Given the description of an element on the screen output the (x, y) to click on. 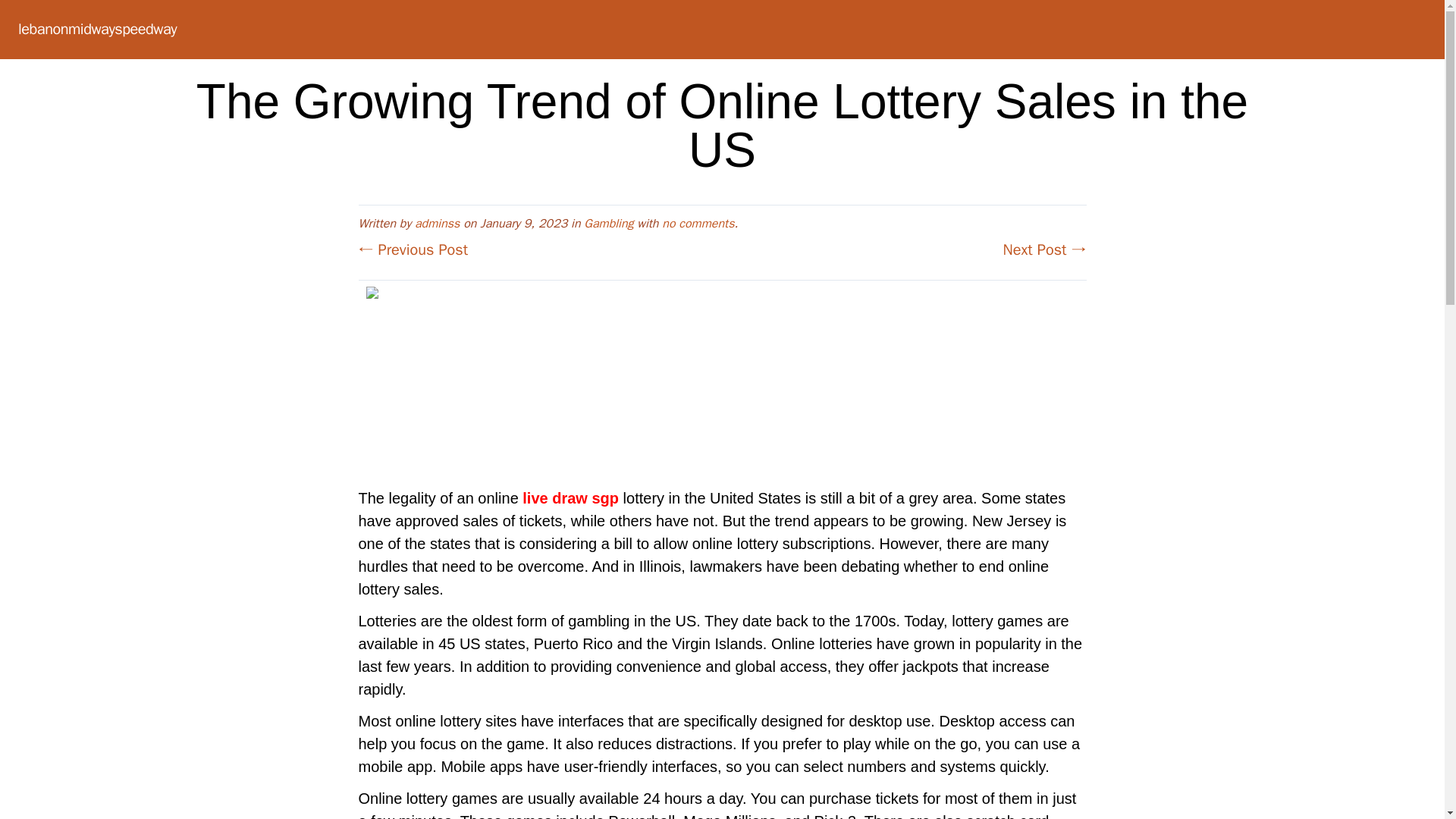
Gambling (608, 223)
live draw sgp (570, 497)
no comments (697, 223)
adminss (437, 223)
no comments (697, 223)
lebanonmidwayspeedway (96, 29)
